Given the description of an element on the screen output the (x, y) to click on. 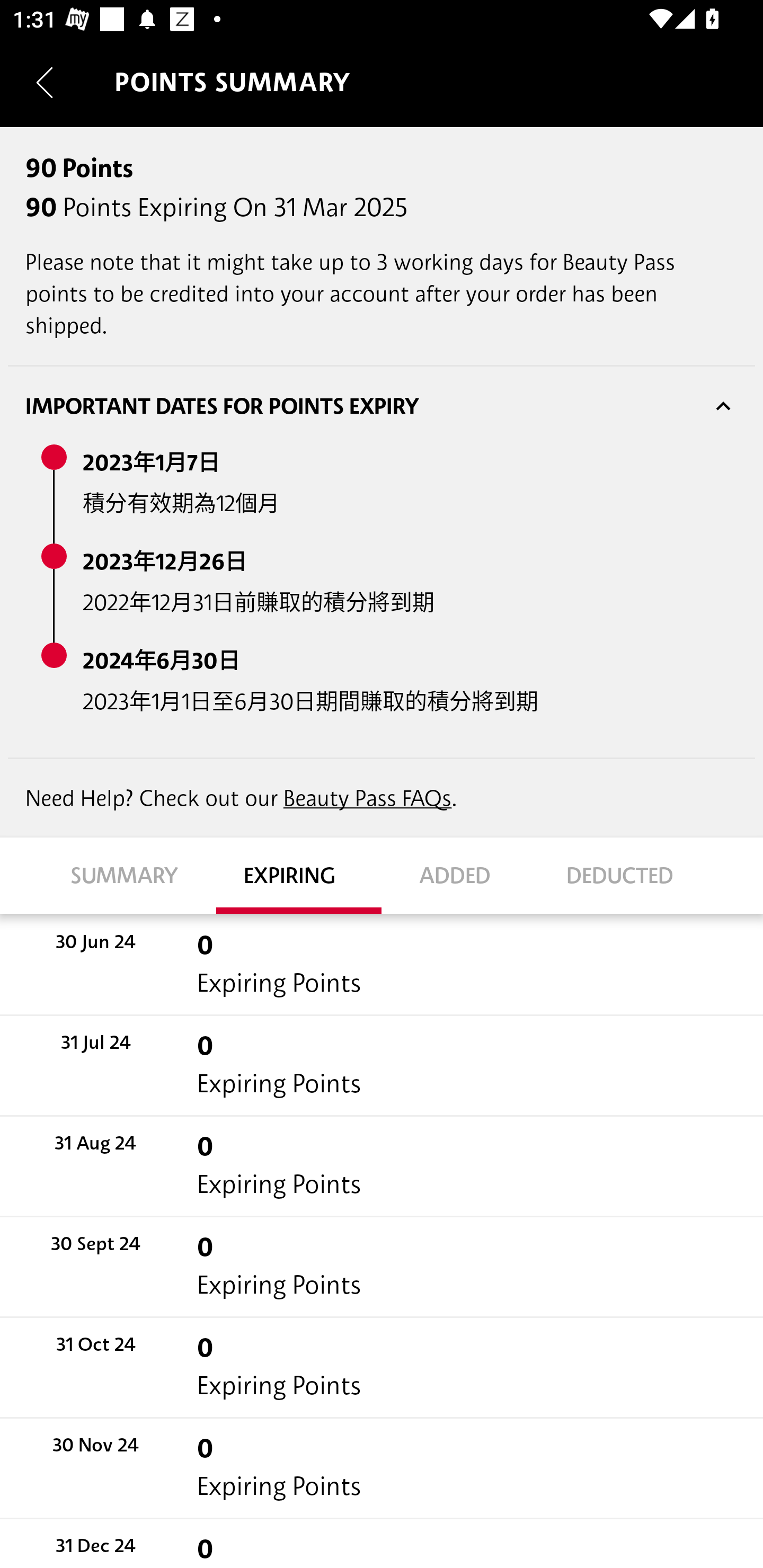
Navigate up (44, 82)
IMPORTANT DATES FOR POINTS EXPIRY (381, 406)
SUMMARY (133, 875)
ADDED (464, 875)
DEDUCTED (629, 875)
